Given the description of an element on the screen output the (x, y) to click on. 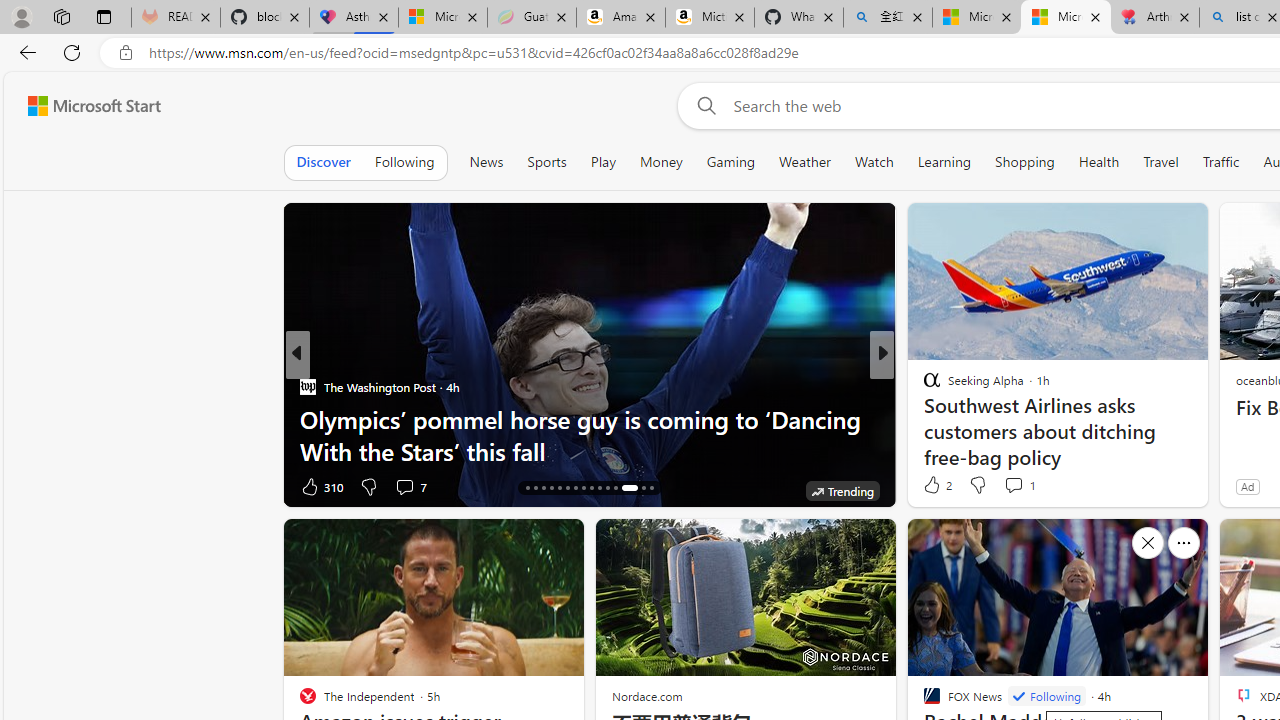
Nordace.com (646, 696)
Travel (1160, 162)
AutomationID: tab-27 (614, 487)
AutomationID: tab-30 (650, 487)
Health (1098, 162)
News (486, 161)
Sports (546, 161)
Discover (323, 161)
2 Like (936, 484)
AutomationID: tab-24 (591, 487)
Scripps News (923, 386)
Following (404, 161)
View comments 1 Comment (1013, 485)
